Given the description of an element on the screen output the (x, y) to click on. 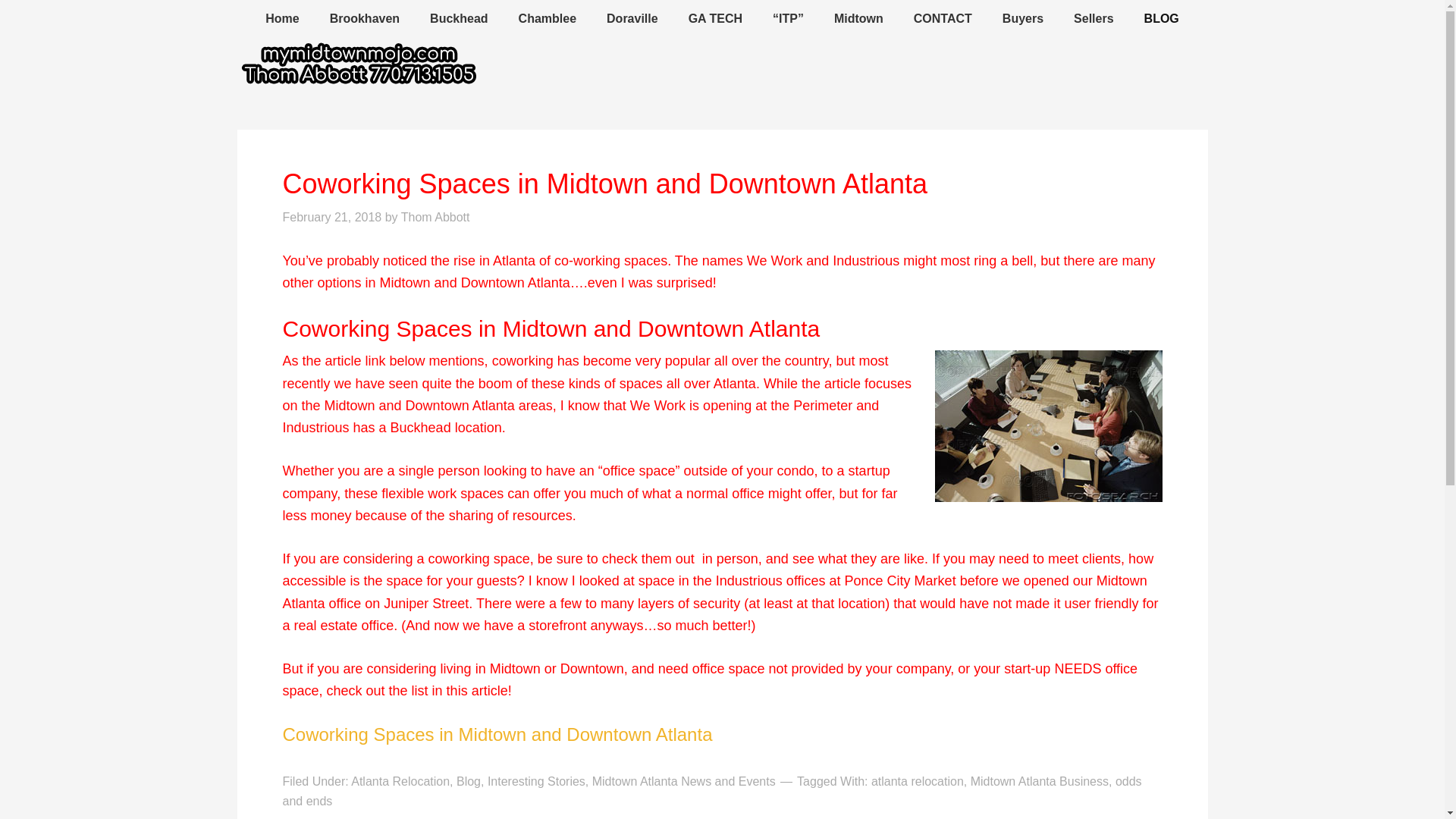
About Georgia Tech (714, 19)
Brookhaven (364, 19)
About Doraville (631, 19)
About Chamblee (547, 19)
About Buckhead Atlanta (458, 19)
GA TECH (714, 19)
Buckhead (458, 19)
Chamblee (547, 19)
Home (282, 19)
Doraville (631, 19)
